Given the description of an element on the screen output the (x, y) to click on. 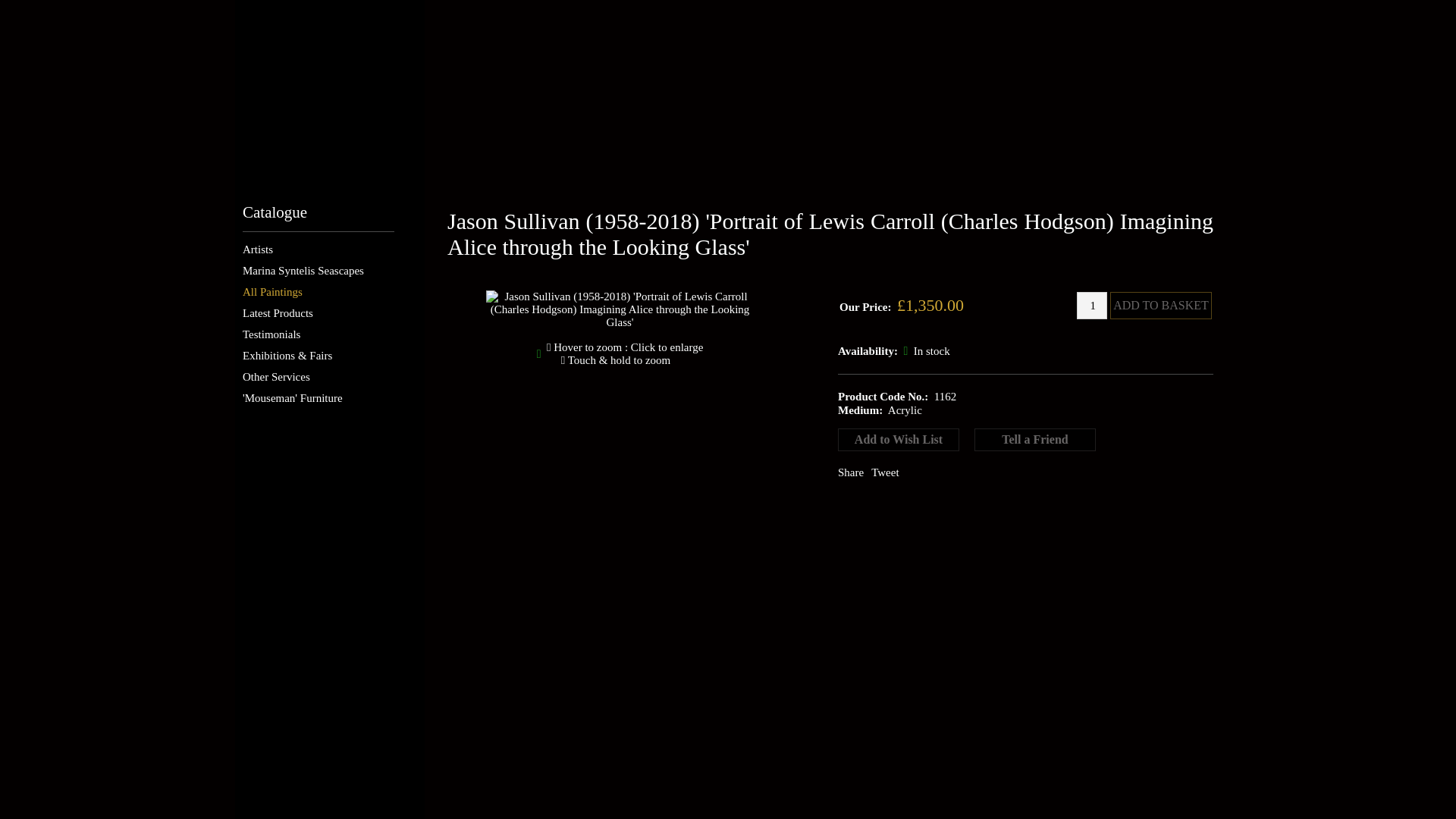
Testimonials (271, 334)
'Mouseman' Furniture (292, 398)
Other Services (276, 377)
Tweet (884, 472)
Artists (258, 249)
Share (850, 472)
Latest Products (278, 313)
Tell a Friend (1035, 439)
ADD TO BASKET (1160, 305)
Marina Syntelis Seascapes (303, 270)
